Given the description of an element on the screen output the (x, y) to click on. 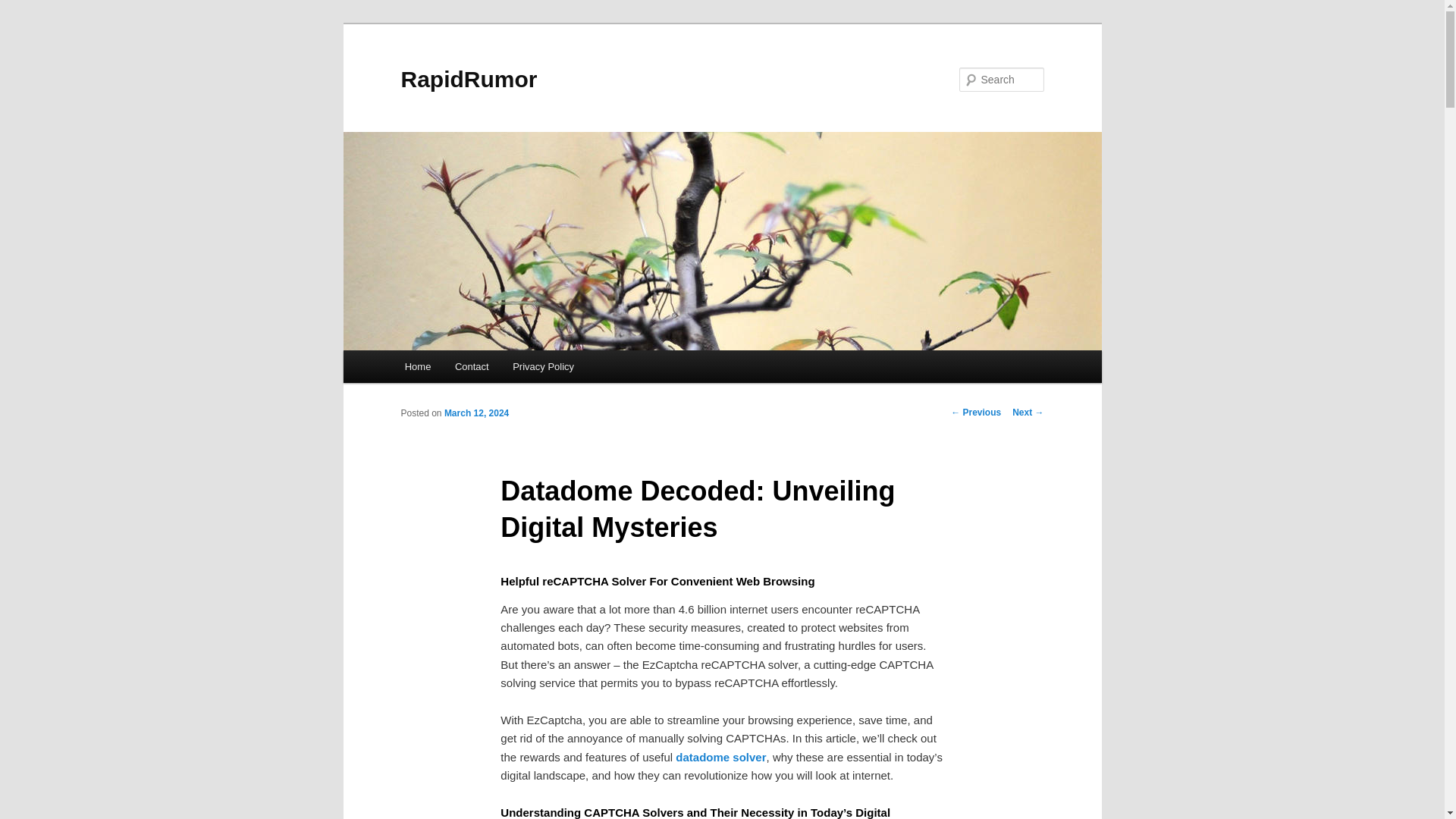
datadome solver (720, 757)
March 12, 2024 (476, 412)
Privacy Policy (542, 366)
Contact (471, 366)
RapidRumor (468, 78)
Search (24, 8)
8:11 pm (476, 412)
Home (417, 366)
